Given the description of an element on the screen output the (x, y) to click on. 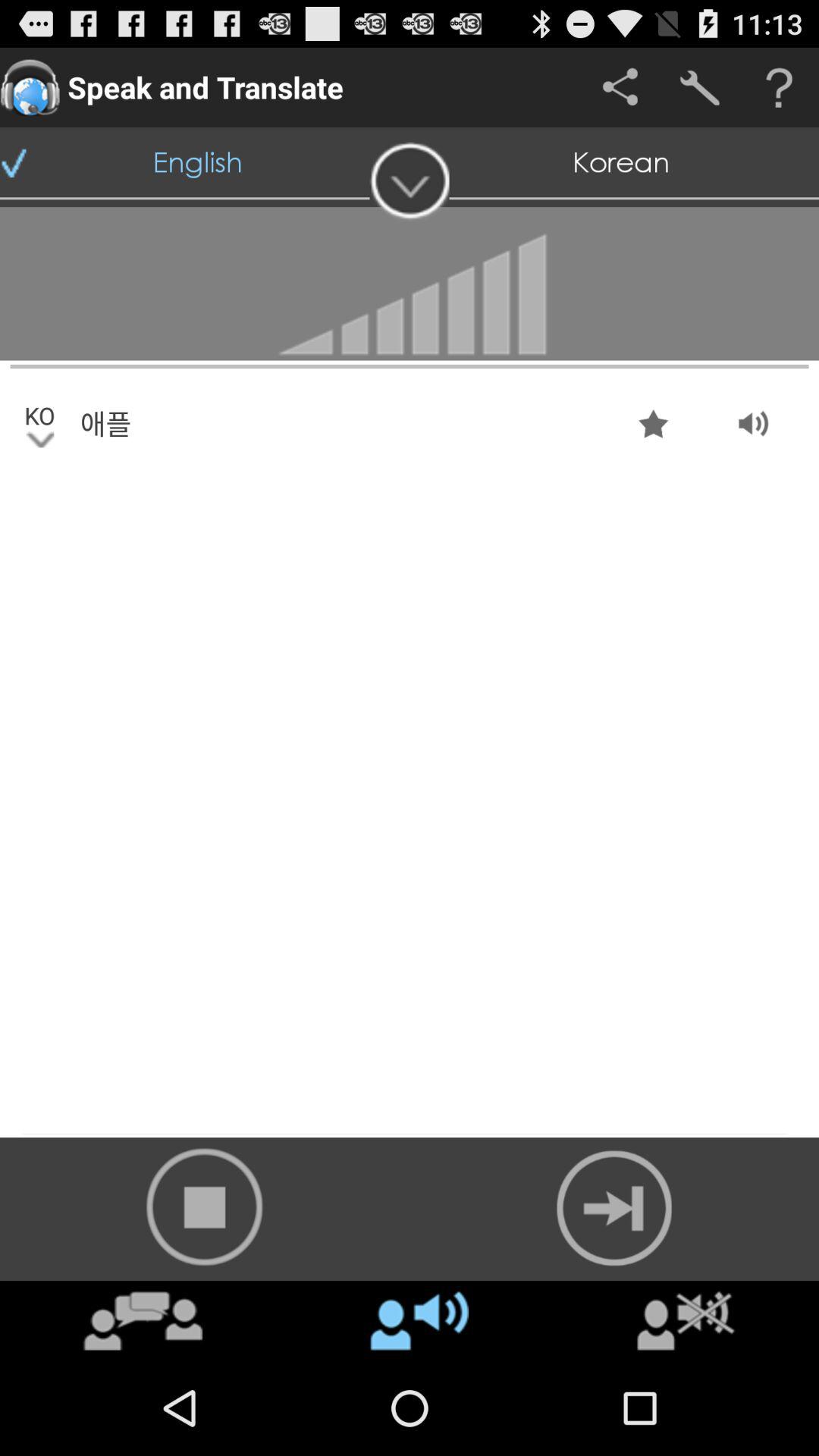
tap for tools (699, 87)
